Given the description of an element on the screen output the (x, y) to click on. 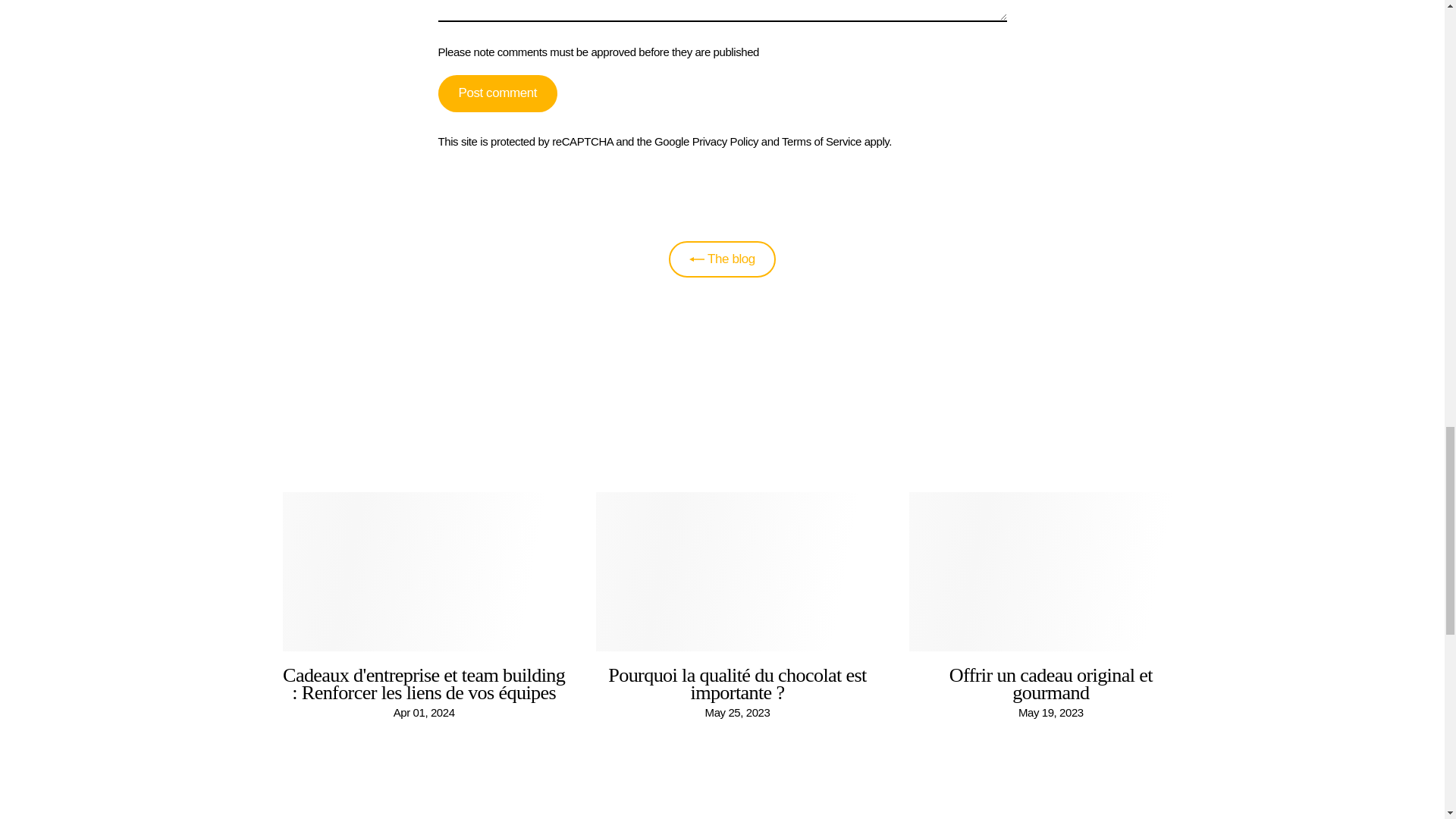
Privacy Policy (725, 141)
Post comment (497, 93)
The blog (722, 258)
Terms of Service (821, 141)
Post comment (497, 93)
